Given the description of an element on the screen output the (x, y) to click on. 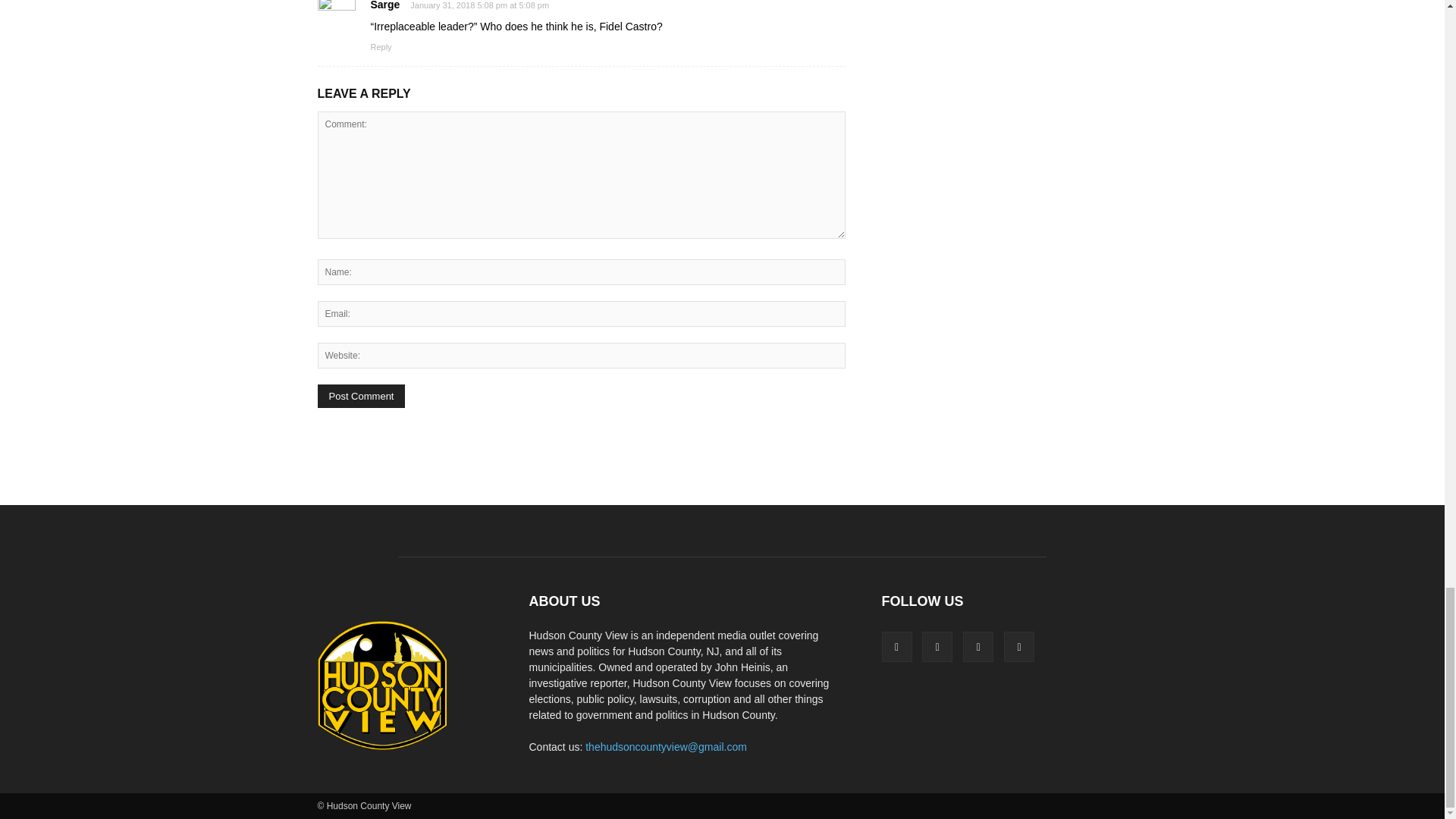
Post Comment (360, 395)
